Given the description of an element on the screen output the (x, y) to click on. 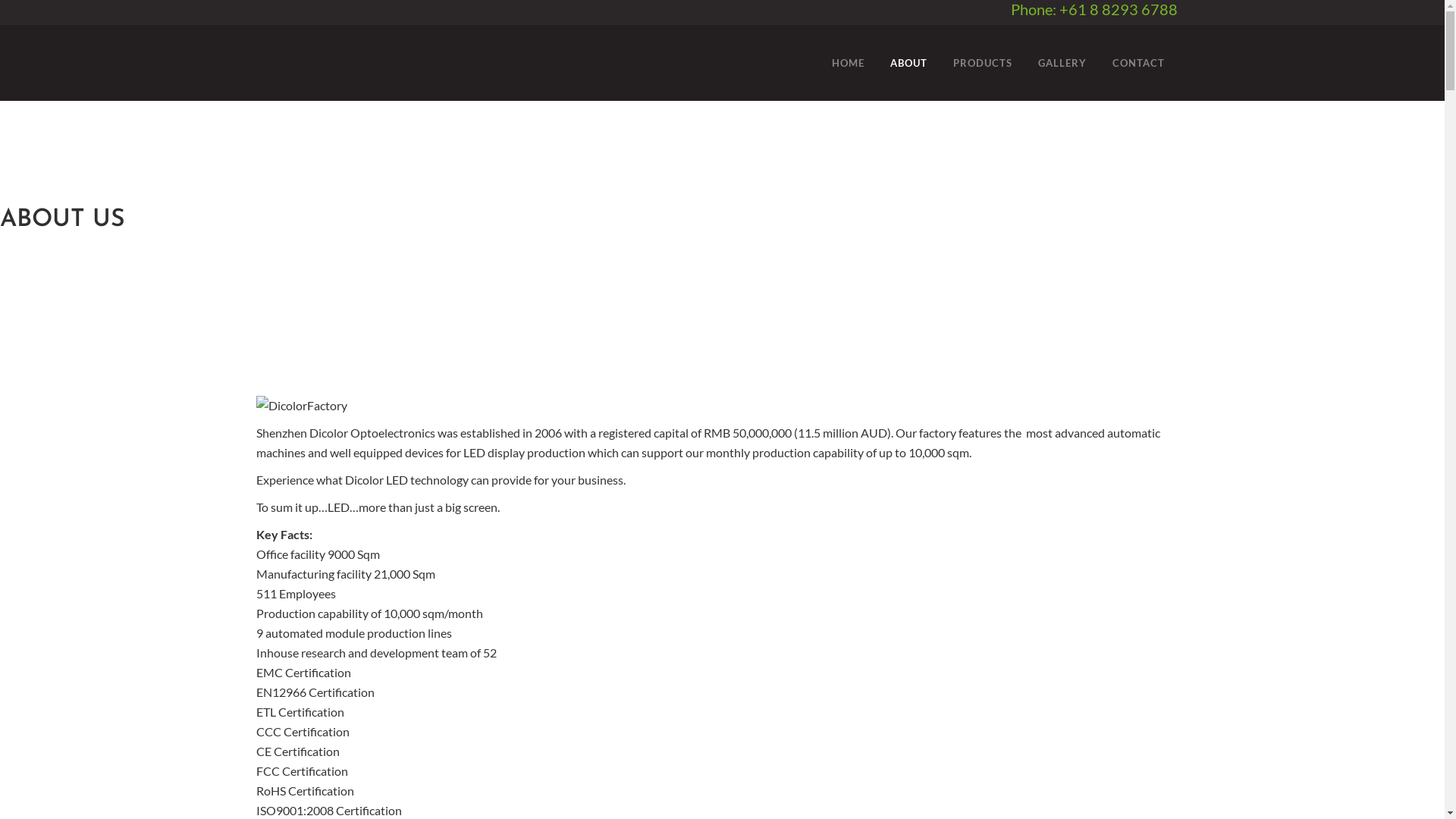
PRODUCTS Element type: text (982, 62)
DicolorFactory Element type: hover (301, 405)
GALLERY Element type: text (1062, 62)
CONTACT Element type: text (1138, 62)
ABOUT Element type: text (907, 62)
HOME Element type: text (848, 62)
